Given the description of an element on the screen output the (x, y) to click on. 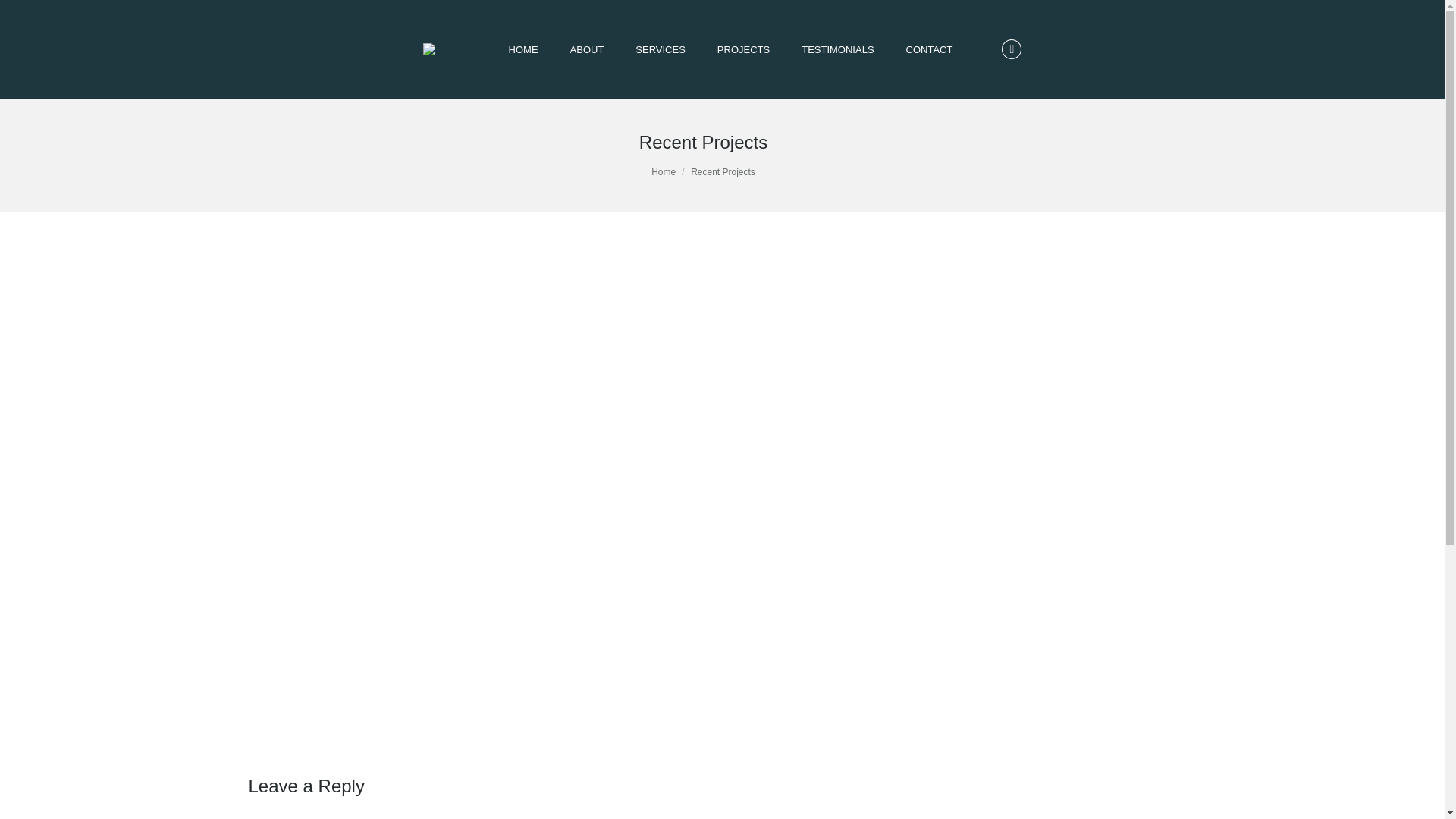
Facebook page opens in new window (1011, 48)
Home (662, 172)
TESTIMONIALS (837, 49)
Facebook page opens in new window (1011, 48)
